Given the description of an element on the screen output the (x, y) to click on. 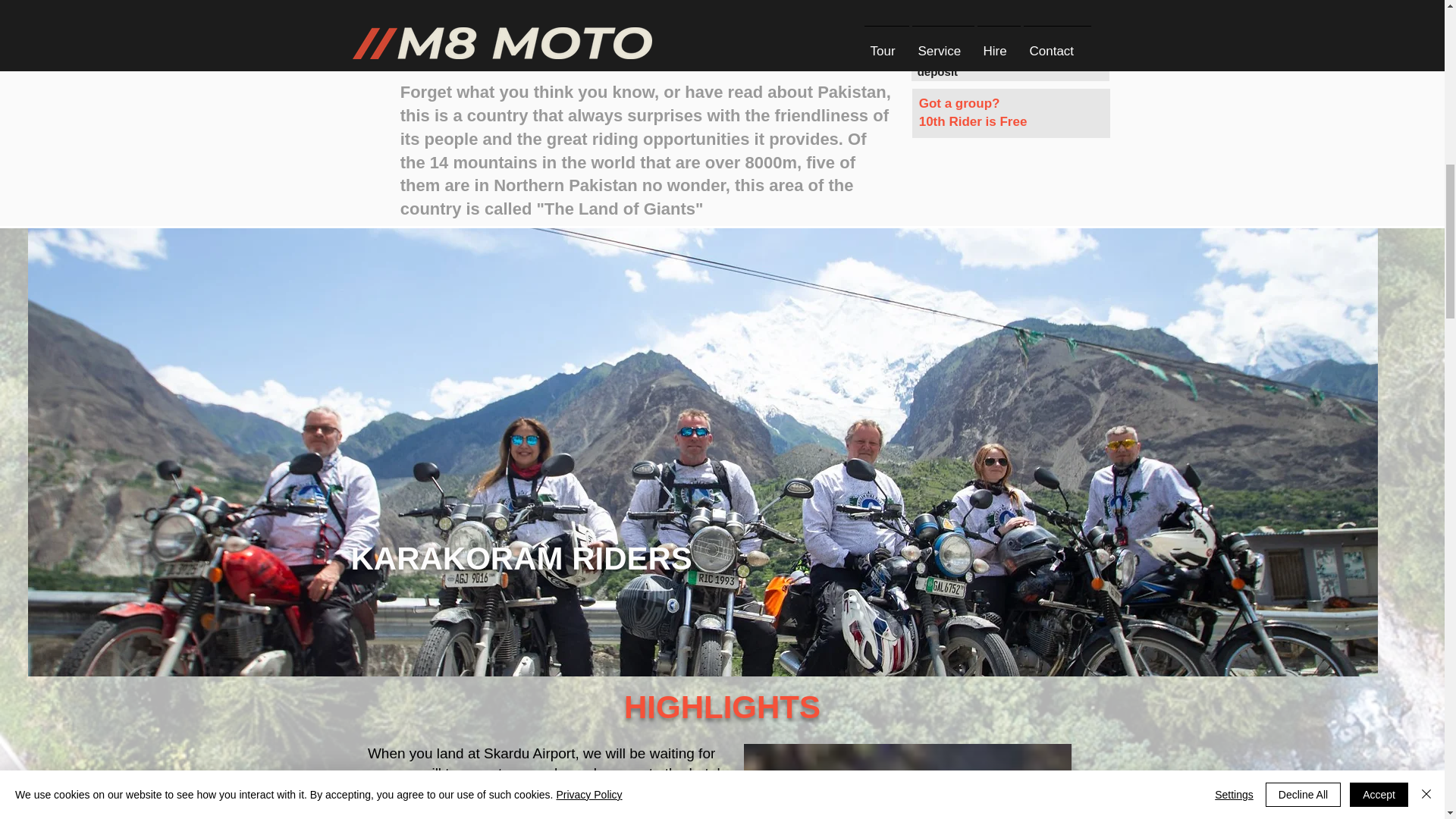
M8 MOTO (907, 781)
